Given the description of an element on the screen output the (x, y) to click on. 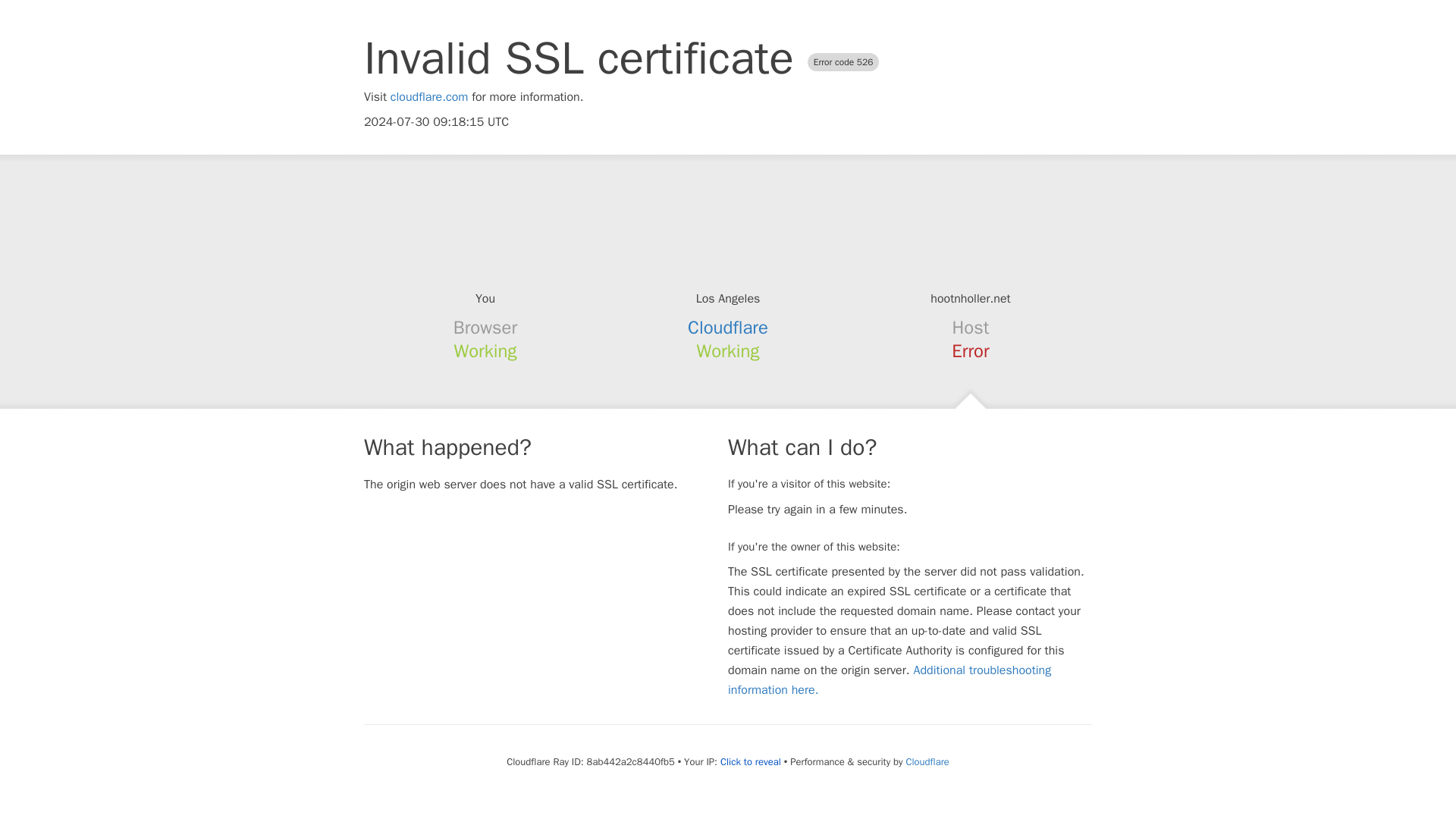
Cloudflare (727, 327)
Cloudflare (927, 761)
Click to reveal (750, 762)
cloudflare.com (429, 96)
Additional troubleshooting information here. (889, 679)
